Given the description of an element on the screen output the (x, y) to click on. 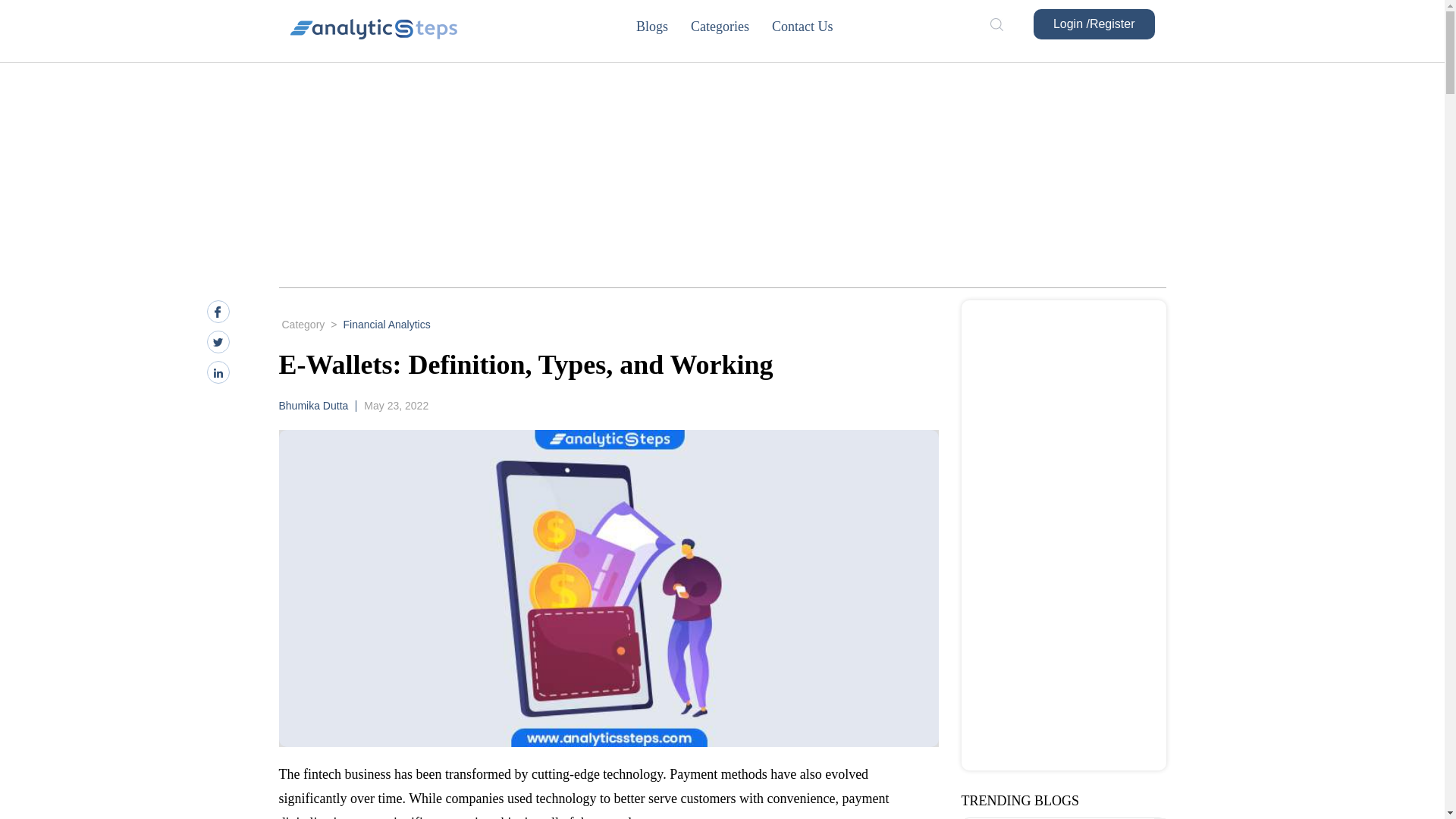
Contact Us (813, 26)
Blogs (663, 26)
Categories (730, 26)
Advertisement (1063, 534)
